Given the description of an element on the screen output the (x, y) to click on. 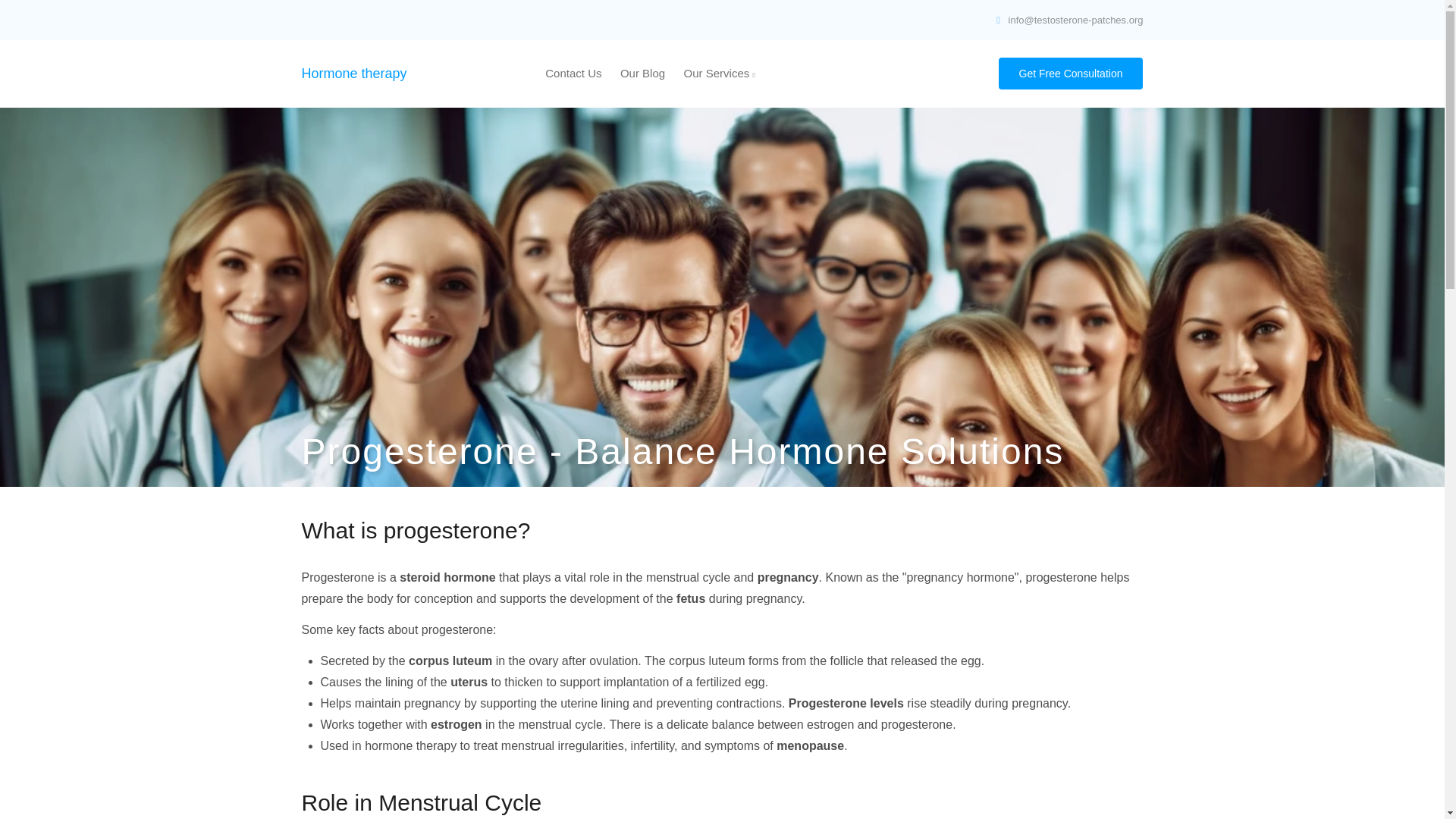
Contact Us (572, 73)
Hormone therapy (354, 72)
Our Services (719, 73)
Our Blog (642, 73)
Get Free Consultation (1070, 73)
